Given the description of an element on the screen output the (x, y) to click on. 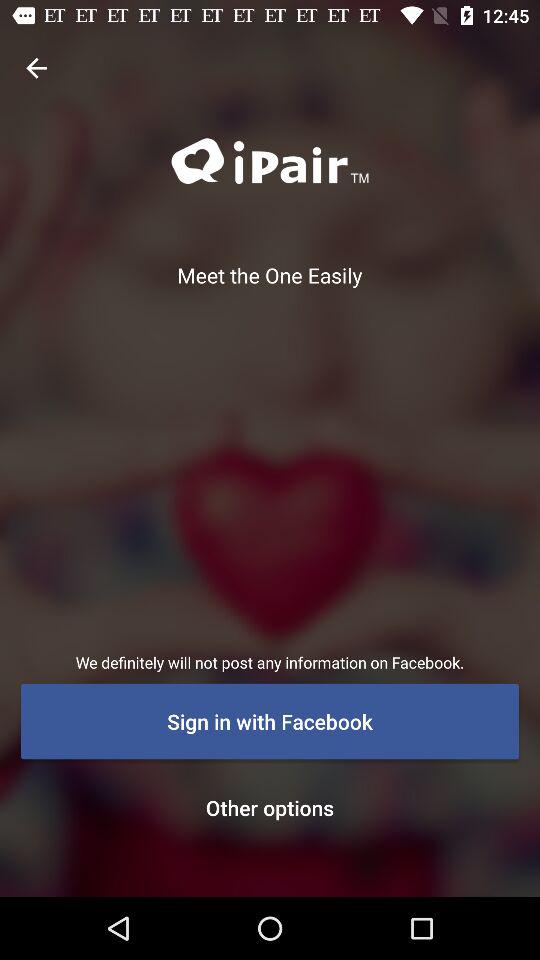
select the item above we definitely will item (36, 68)
